Given the description of an element on the screen output the (x, y) to click on. 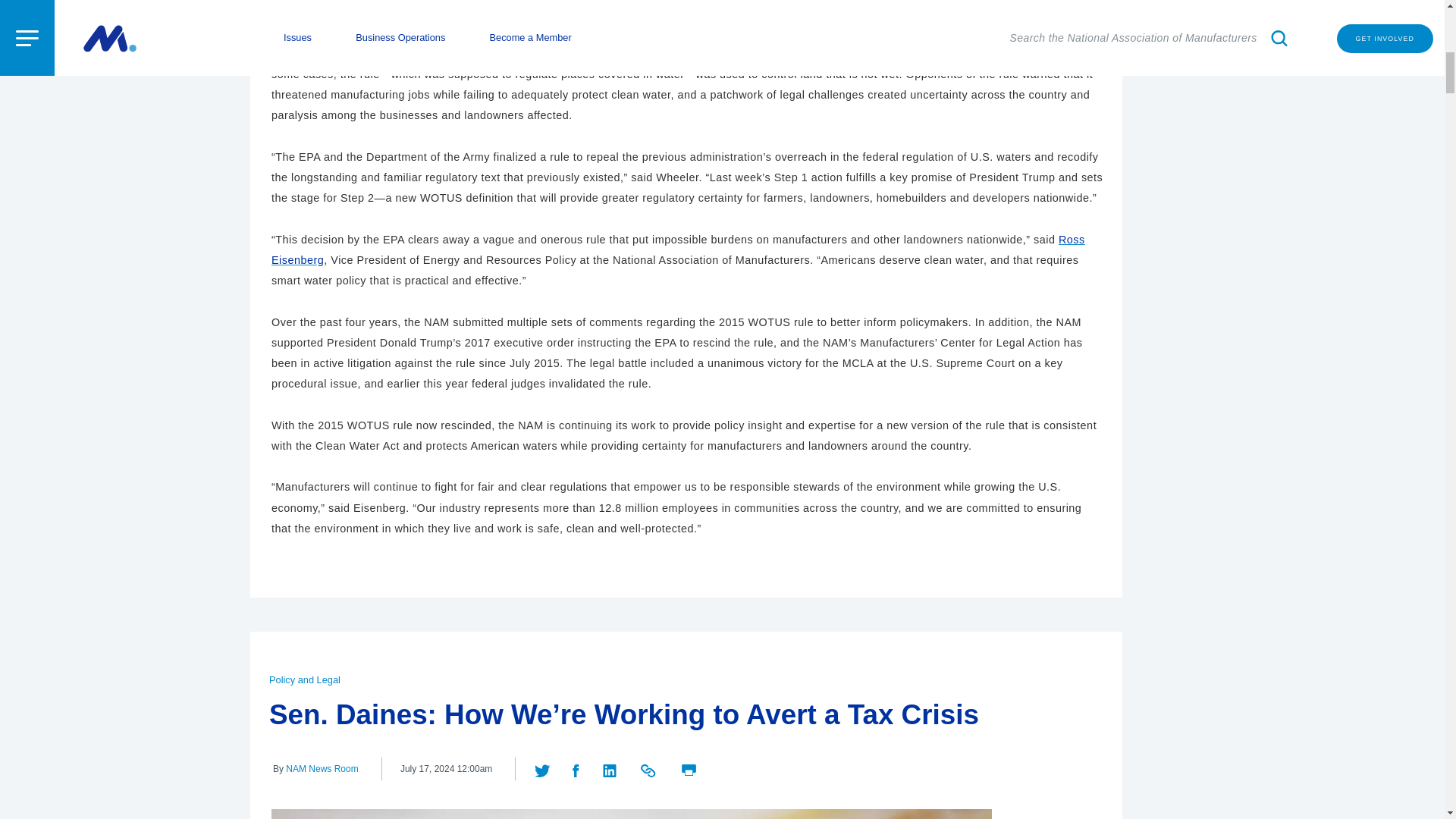
Wednesday, July 17th at 12:00am (446, 769)
